Given the description of an element on the screen output the (x, y) to click on. 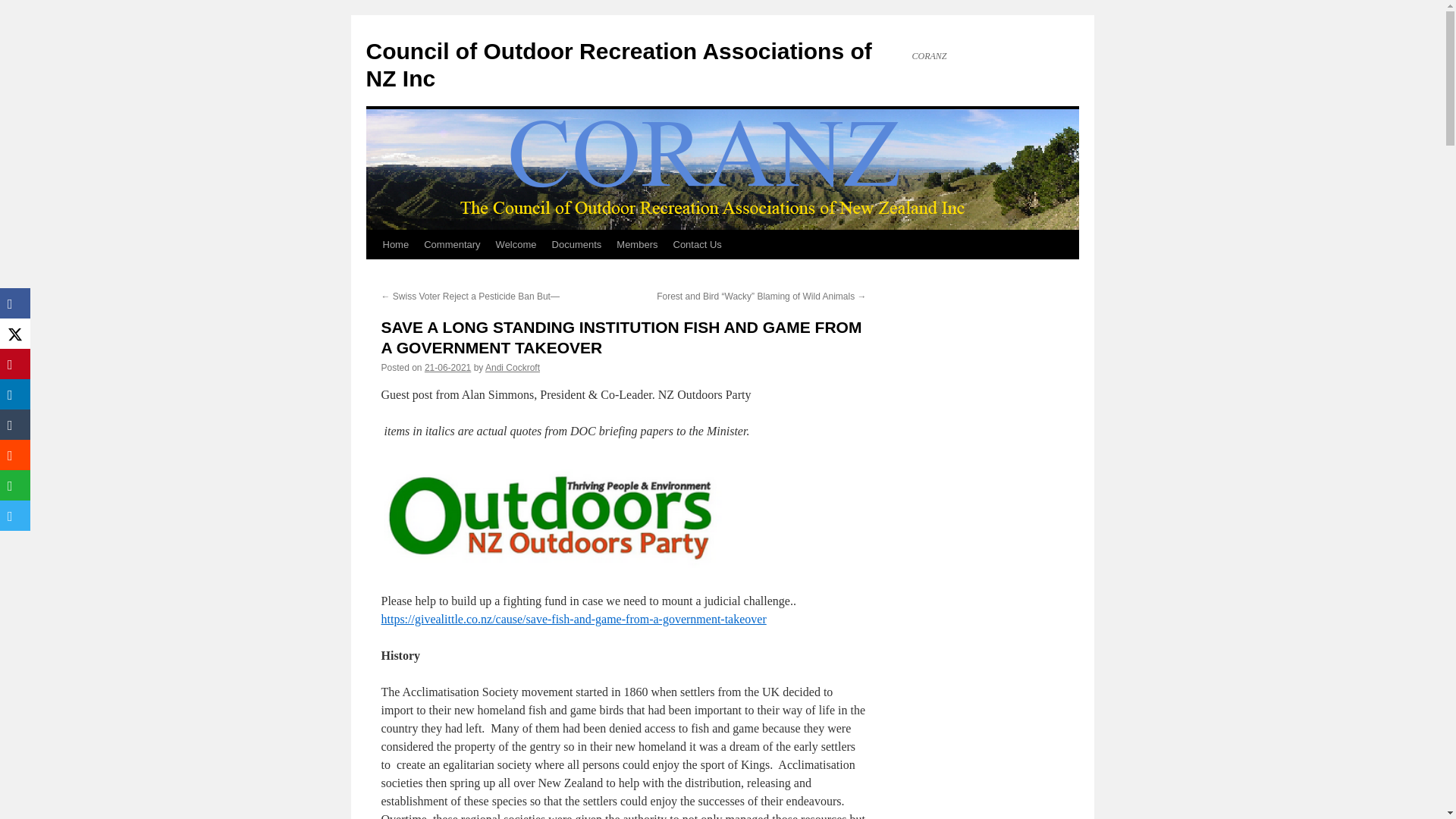
10:06 am (447, 367)
Council of Outdoor Recreation Associations of NZ Inc (617, 64)
Council of Outdoor Recreation Associations of NZ Inc (617, 64)
Commentary (451, 244)
Documents (577, 244)
21-06-2021 (447, 367)
Welcome (515, 244)
Home (395, 244)
View all posts by Andi Cockroft (512, 367)
Contact Us (697, 244)
Andi Cockroft (512, 367)
Members (636, 244)
